Given the description of an element on the screen output the (x, y) to click on. 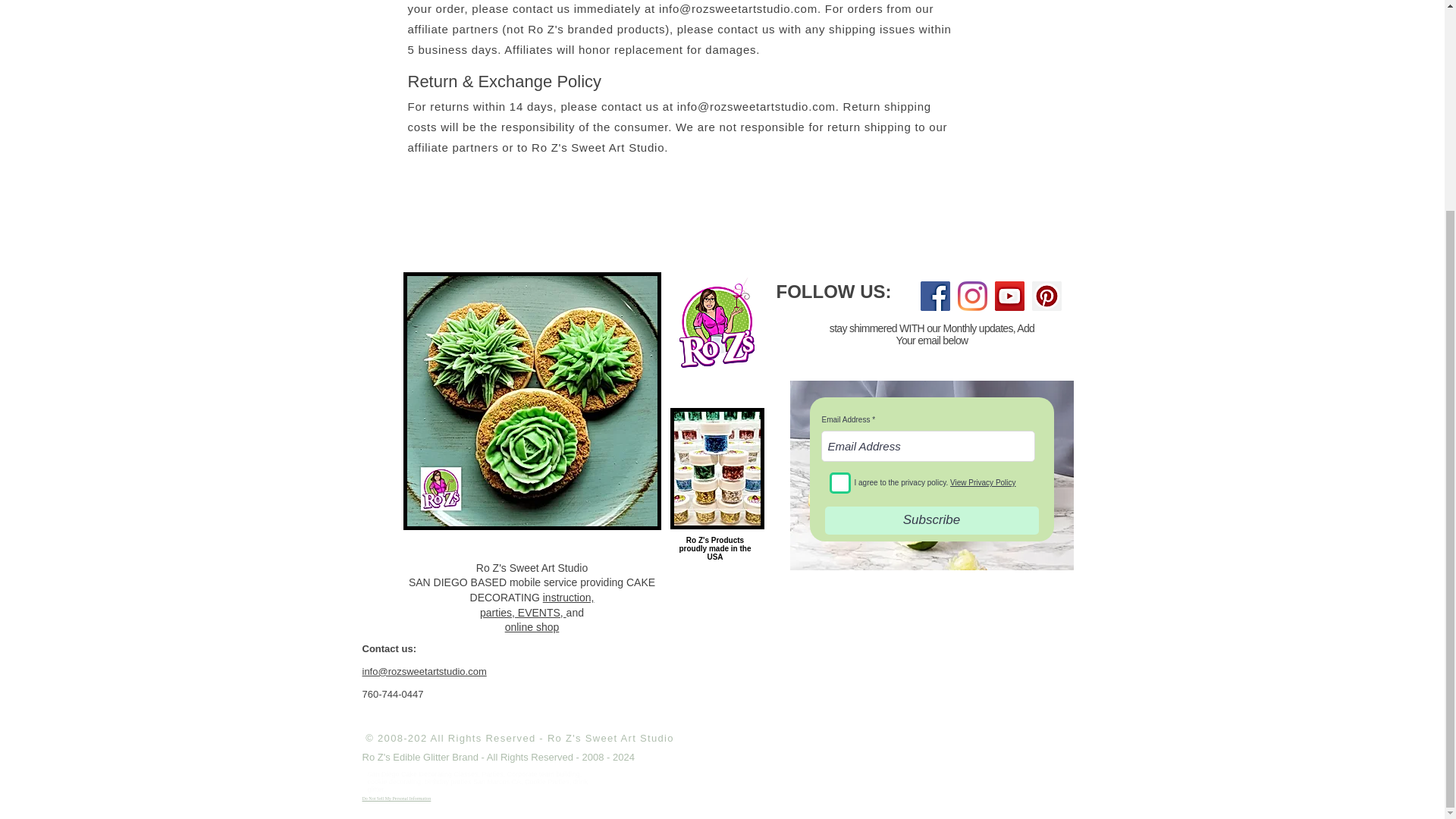
COOKIE DECORATING (537, 605)
online shop (532, 400)
